Given the description of an element on the screen output the (x, y) to click on. 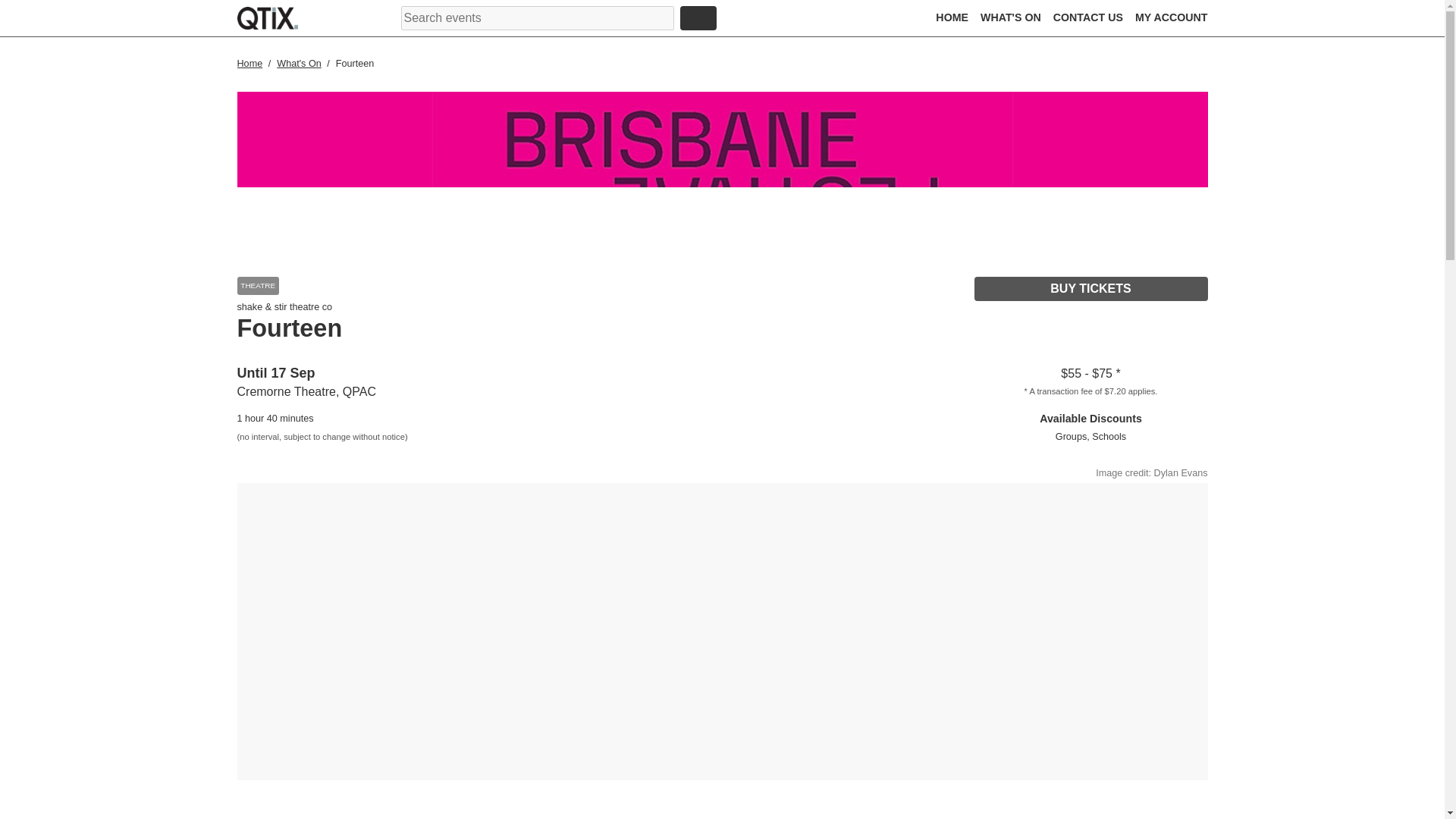
What's On (300, 63)
WHAT'S ON (1010, 17)
THEATRE (256, 285)
Go to QTIX Home Page (266, 17)
CONTACT US (1087, 17)
Home (249, 63)
Launch accessibility tool (787, 19)
HOME (952, 17)
BUY TICKETS (1090, 288)
MY ACCOUNT (1171, 17)
